Given the description of an element on the screen output the (x, y) to click on. 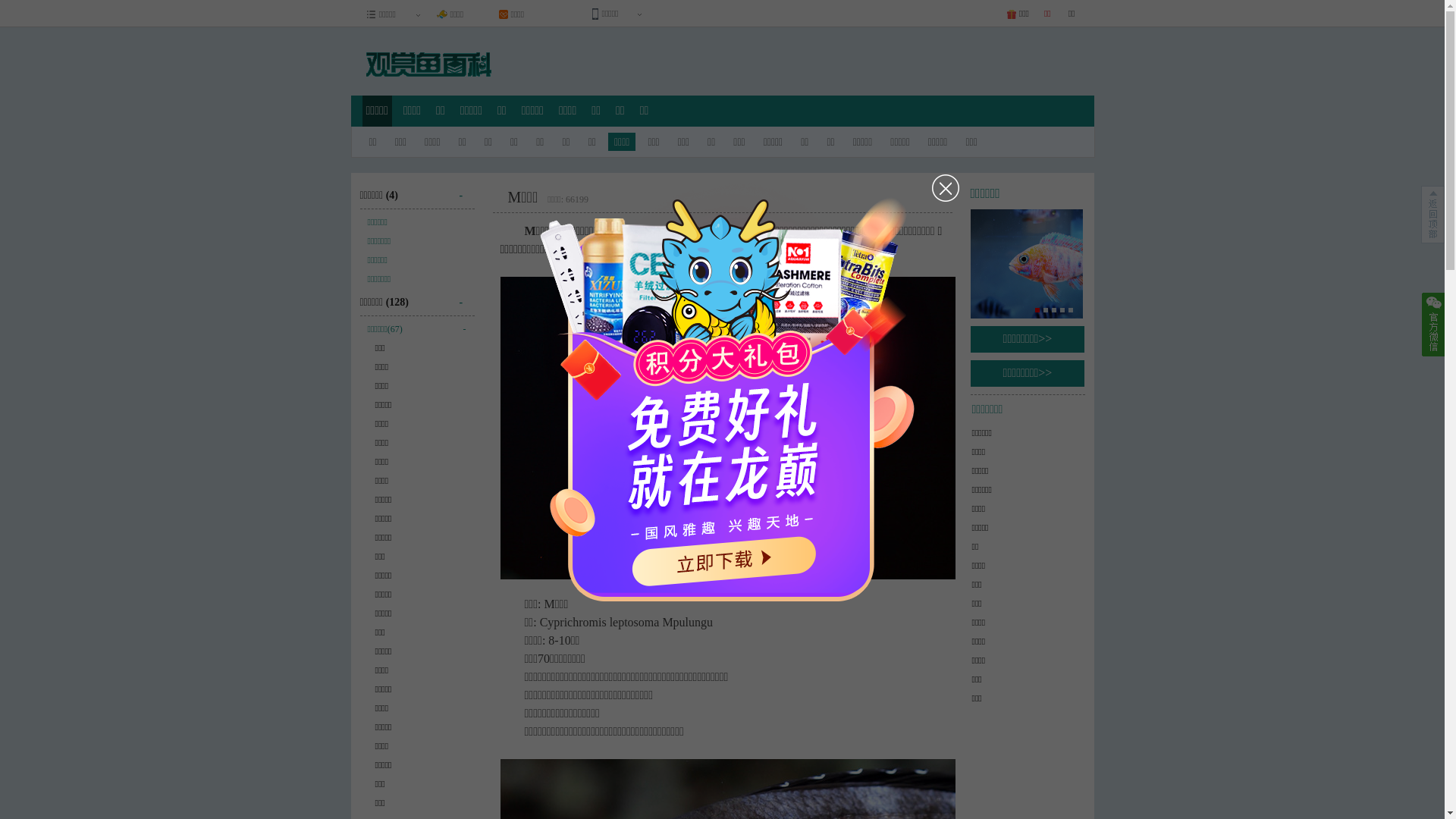
- Element type: text (462, 327)
- Element type: text (466, 189)
- Element type: text (466, 296)
